Given the description of an element on the screen output the (x, y) to click on. 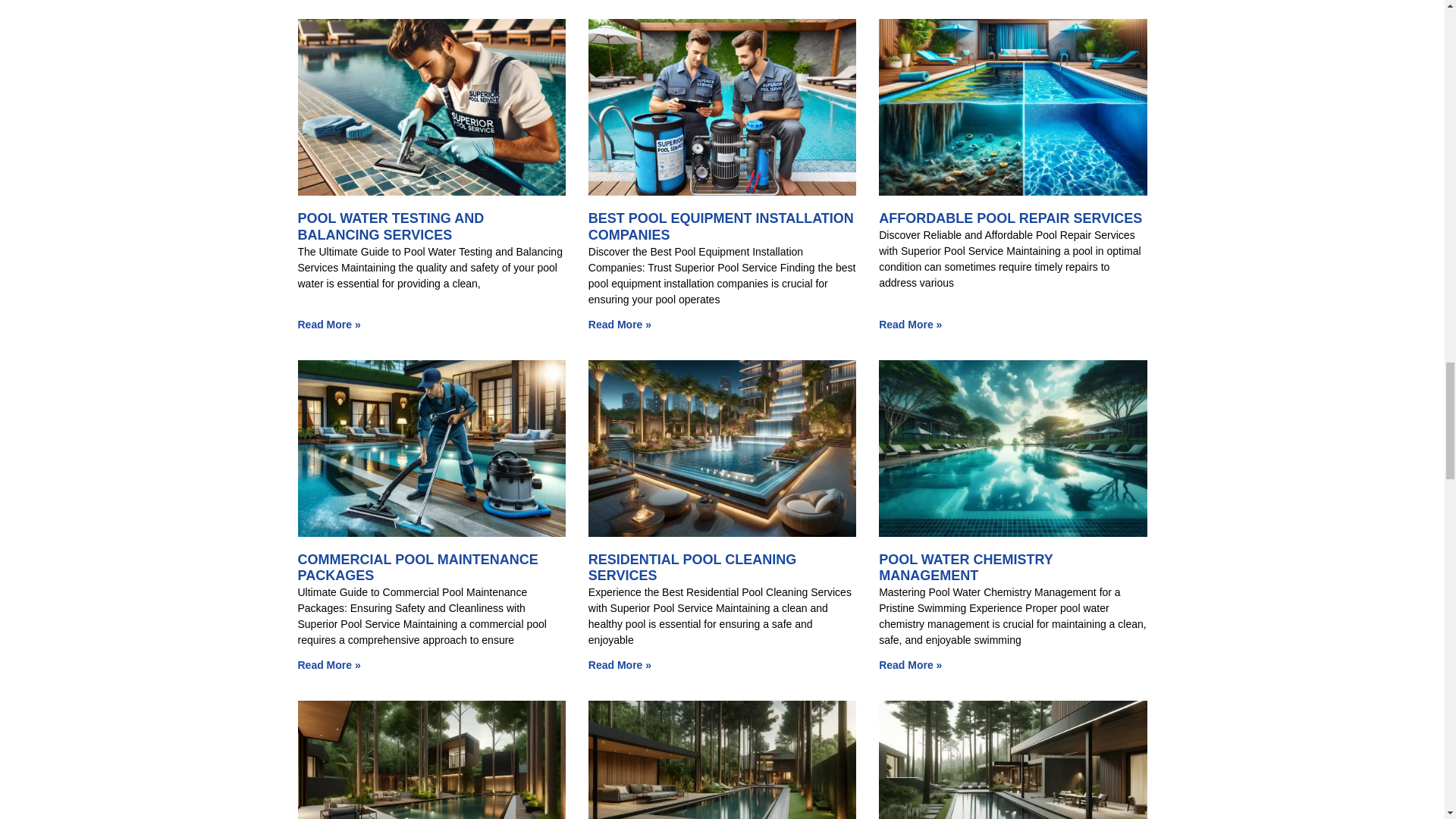
POOL WATER TESTING AND BALANCING SERVICES (390, 226)
